Given the description of an element on the screen output the (x, y) to click on. 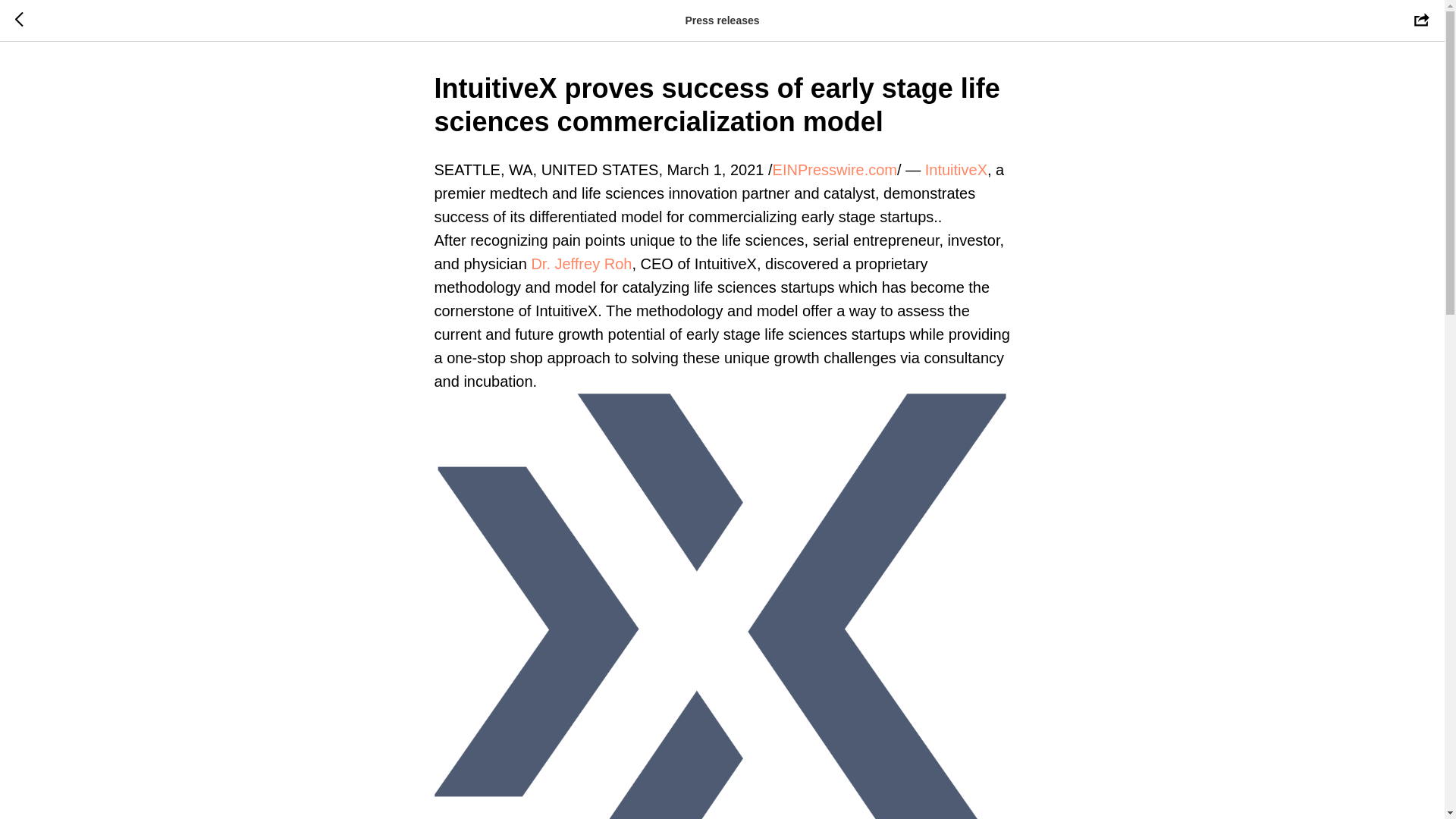
IntuitiveX (955, 169)
EINPresswire.com (834, 169)
Dr. Jeffrey Roh (581, 263)
